Given the description of an element on the screen output the (x, y) to click on. 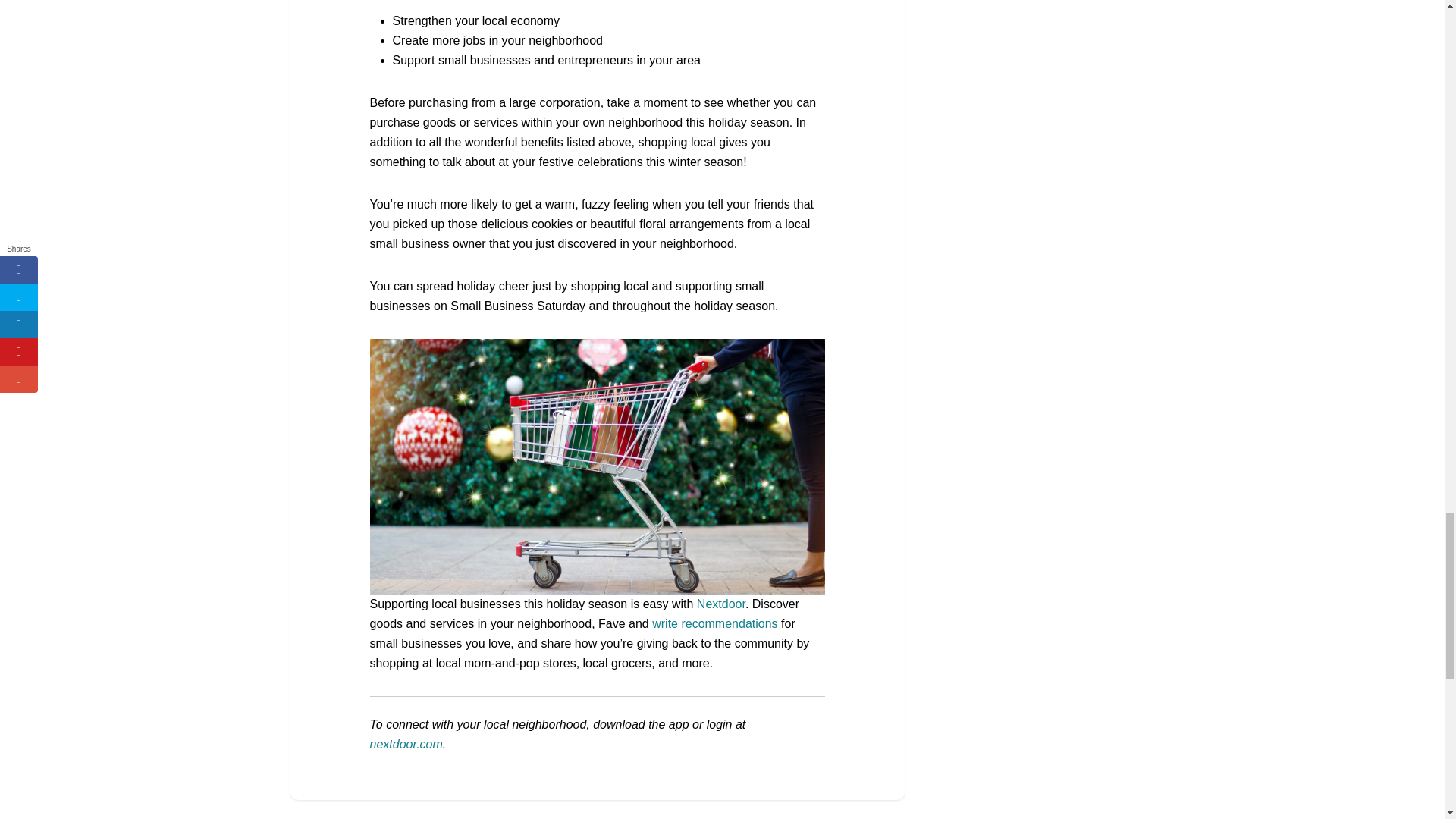
nextdoor.com (405, 744)
Nextdoor (721, 603)
write recommendations (714, 623)
